Given the description of an element on the screen output the (x, y) to click on. 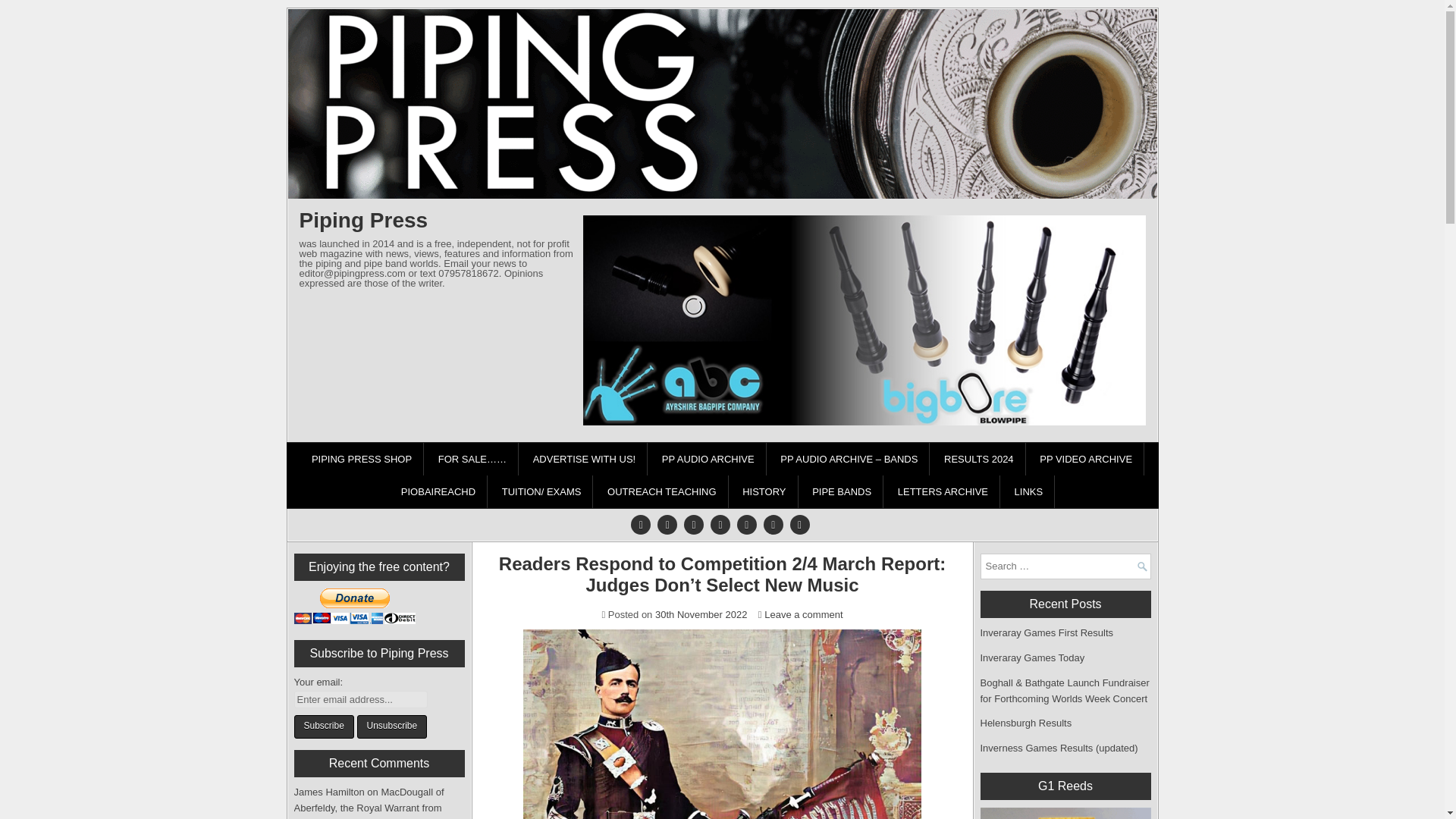
PIOBAIREACHD (438, 490)
LETTERS ARCHIVE (943, 490)
RESULTS 2024 (979, 459)
Enter email address... (361, 699)
OUTREACH TEACHING (662, 490)
Twitter (640, 523)
LINKS (1029, 490)
PP VIDEO ARCHIVE (1085, 459)
PP AUDIO ARCHIVE (708, 459)
Subscribe (323, 726)
PIPING PRESS SHOP (361, 459)
Piping Press (363, 219)
PIPE BANDS (841, 490)
Unsubscribe (391, 726)
Linkedin (720, 523)
